Given the description of an element on the screen output the (x, y) to click on. 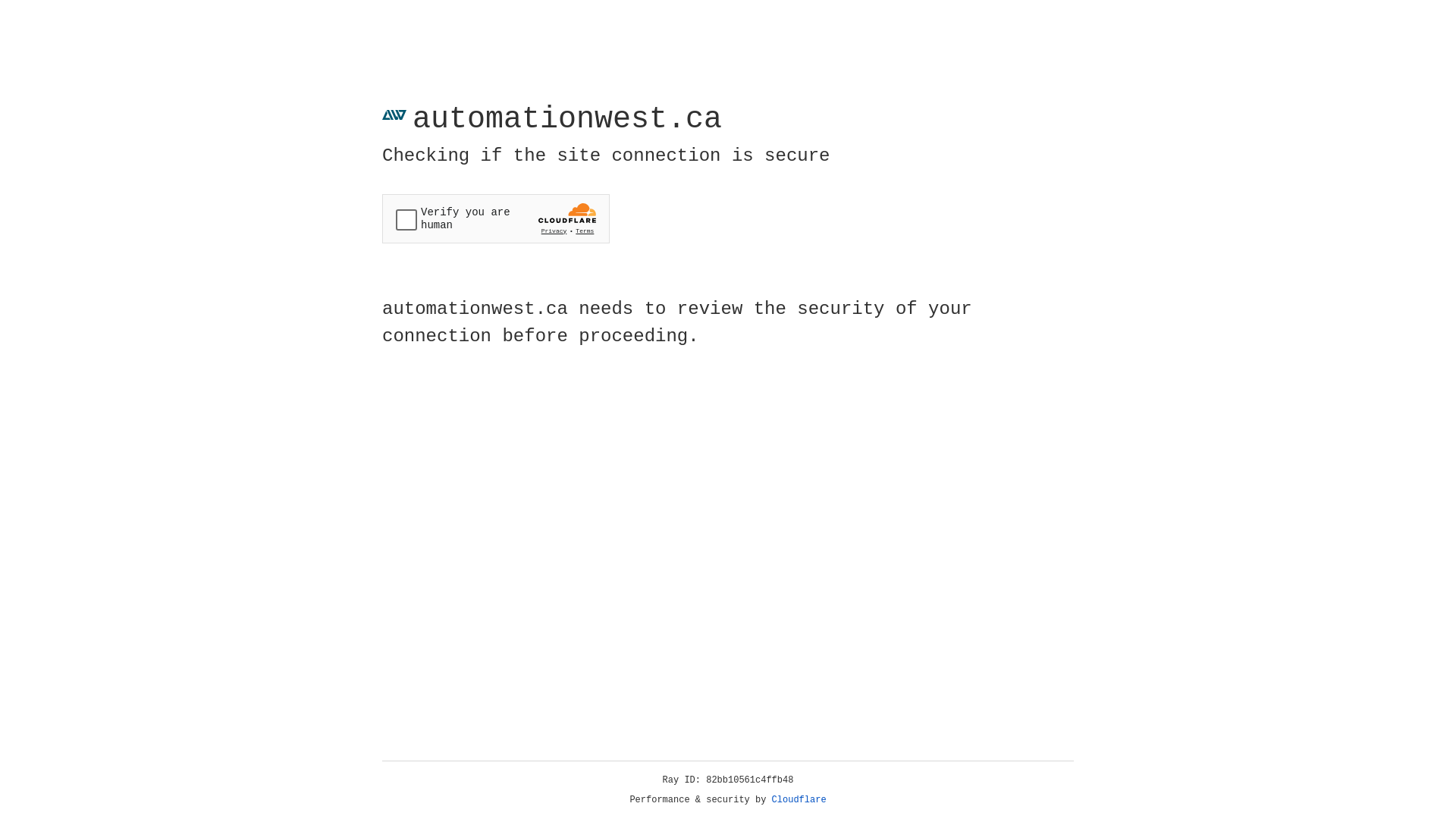
Cloudflare Element type: text (798, 799)
Widget containing a Cloudflare security challenge Element type: hover (495, 218)
